Given the description of an element on the screen output the (x, y) to click on. 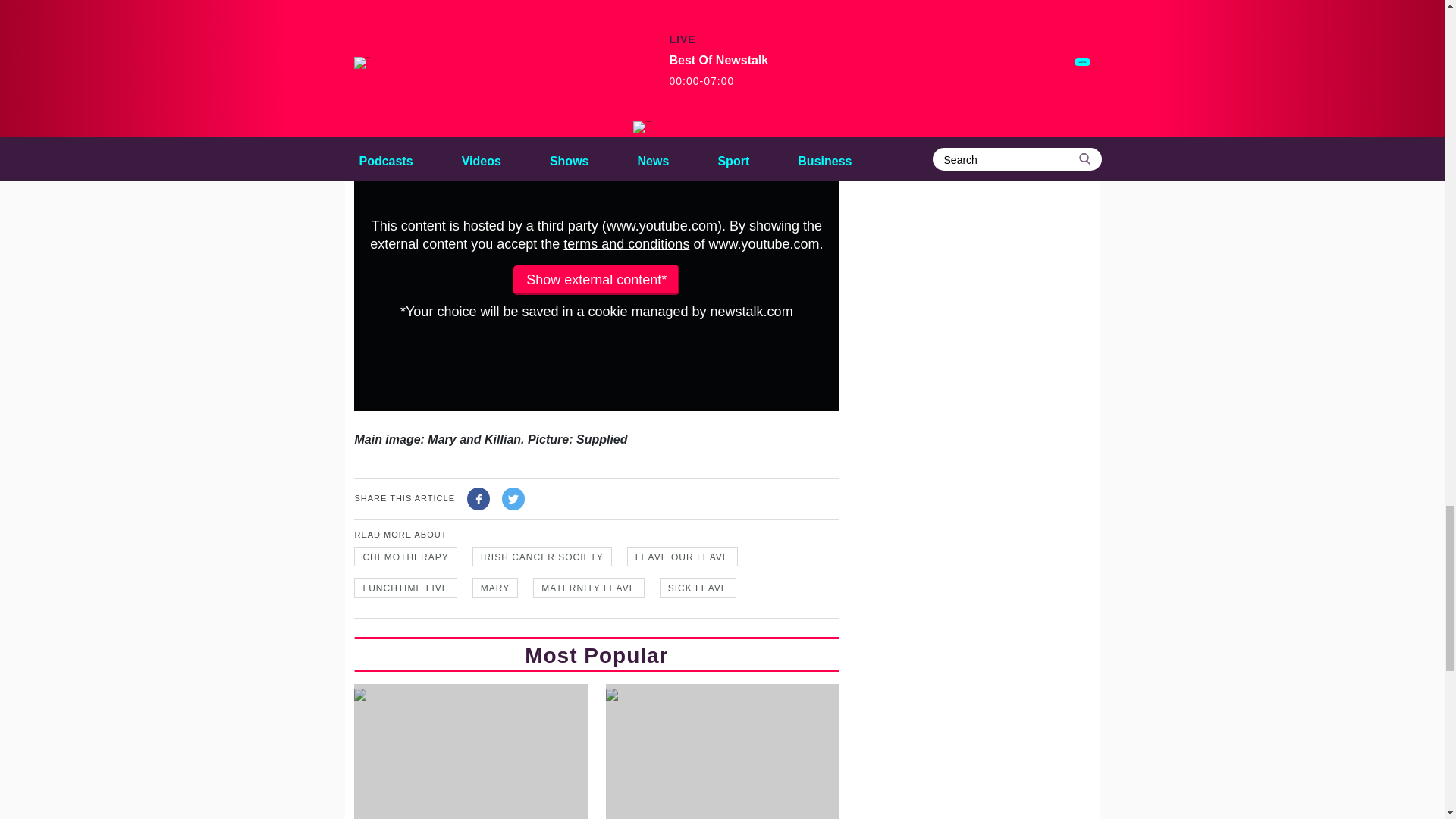
MARY (494, 587)
LUNCHTIME LIVE (405, 587)
MATERNITY LEAVE (587, 587)
SICK LEAVE (697, 587)
LEAVE OUR LEAVE (682, 556)
CHEMOTHERAPY (405, 556)
terms and conditions (625, 243)
IRISH CANCER SOCIETY (541, 556)
